Given the description of an element on the screen output the (x, y) to click on. 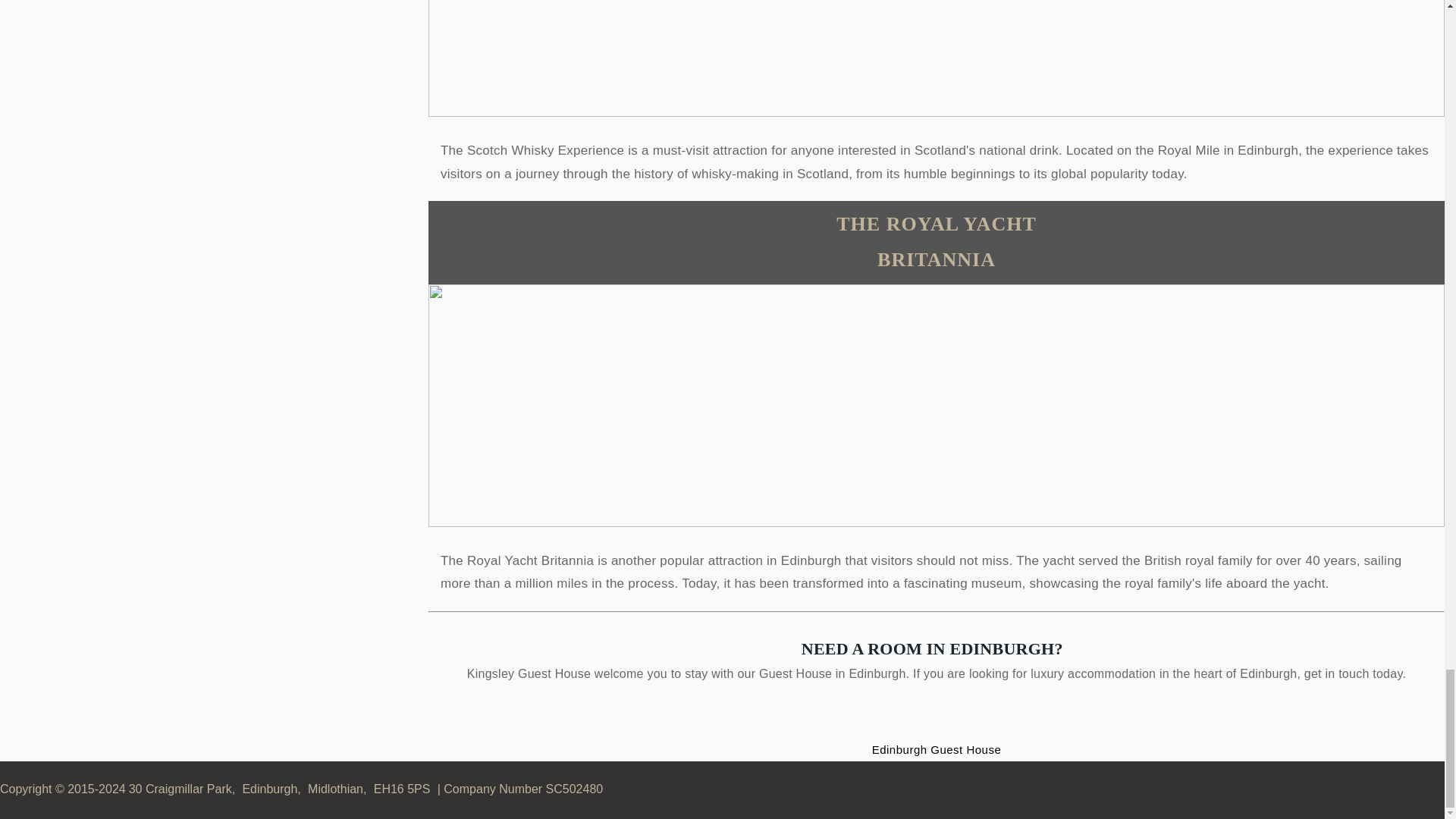
Edinburgh Guest House (936, 749)
Edinburgh Guest House (936, 749)
